Given the description of an element on the screen output the (x, y) to click on. 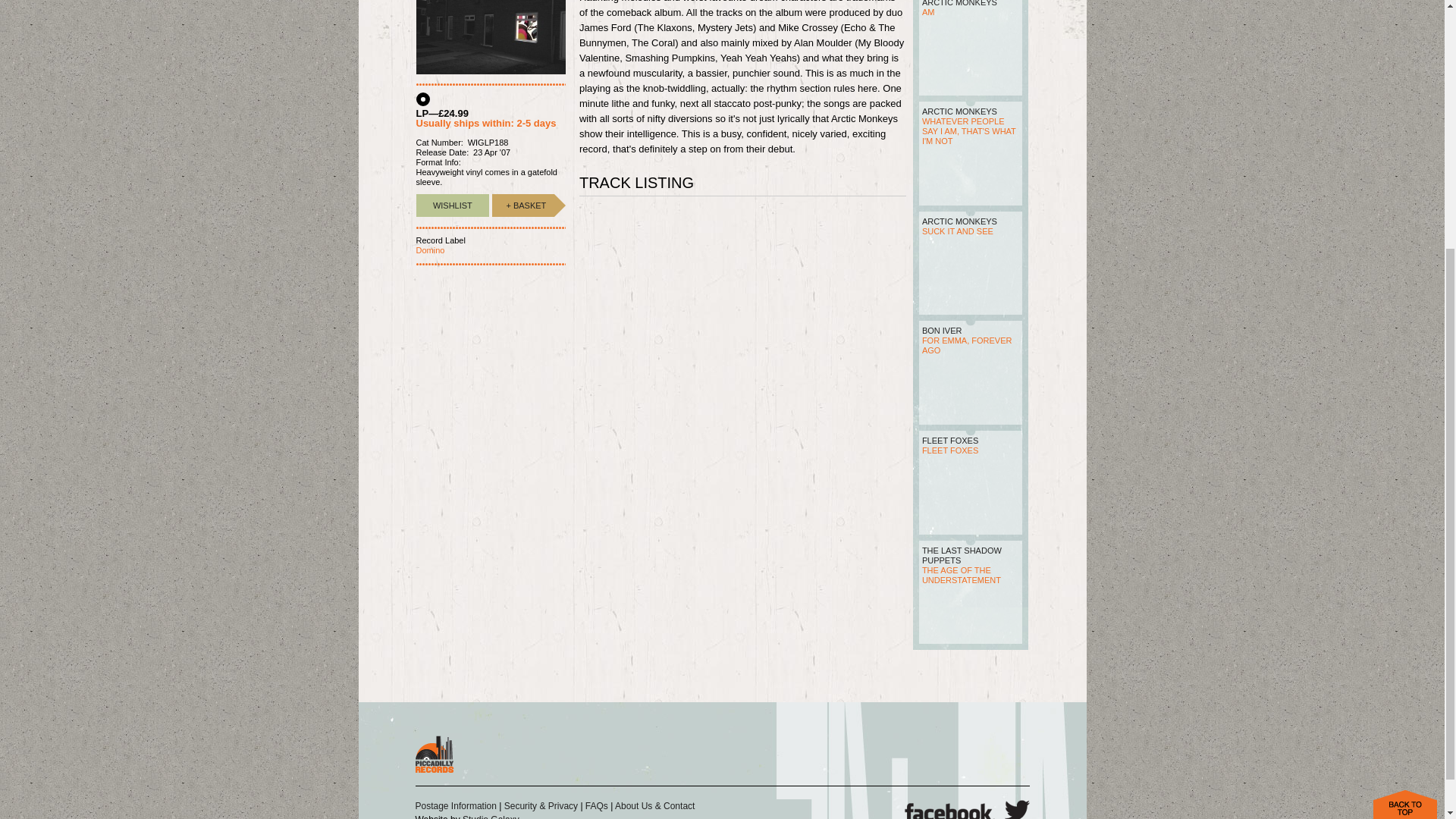
Search for other items on Domino (429, 249)
Usually ships within: 2-5 days (485, 122)
WISHLIST (451, 205)
Domino (429, 249)
Item usually despatched within 2-5 days (523, 205)
